Given the description of an element on the screen output the (x, y) to click on. 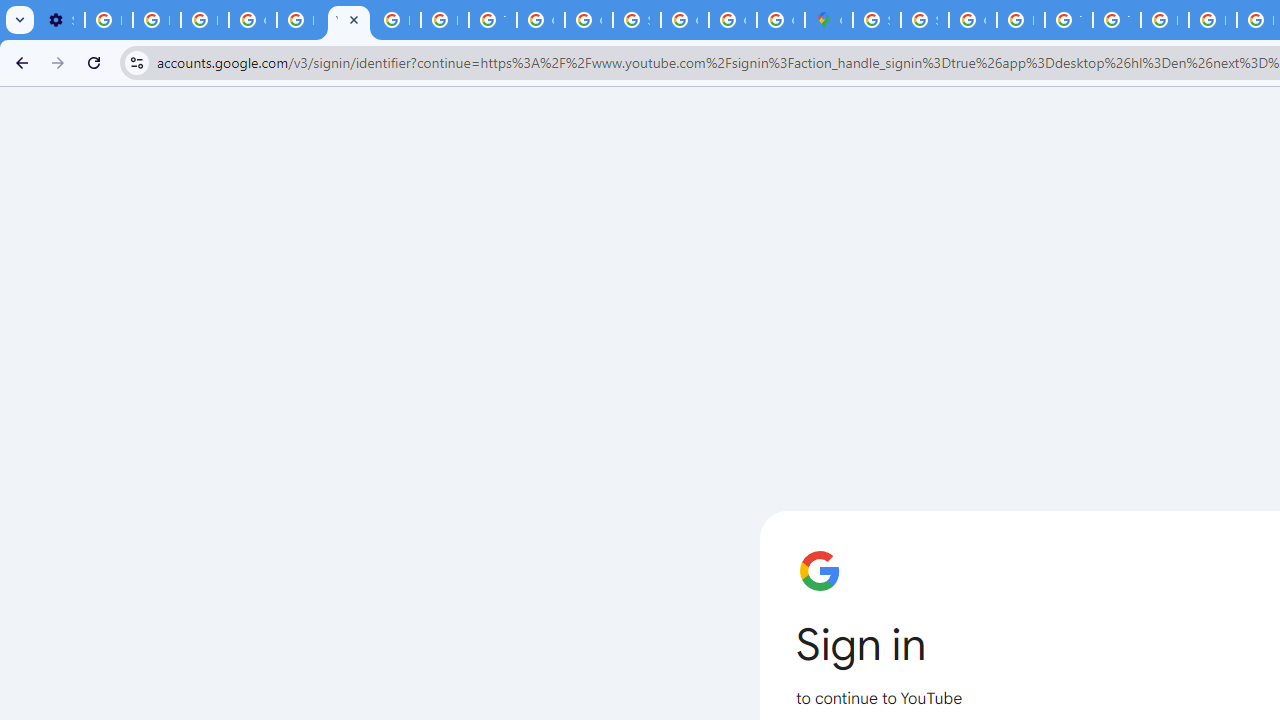
Privacy Help Center - Policies Help (300, 20)
Terms and Conditions (1068, 20)
Sign in - Google Accounts (636, 20)
Settings - Customize profile (60, 20)
Privacy Help Center - Policies Help (1212, 20)
Learn how to find your photos - Google Photos Help (156, 20)
